Given the description of an element on the screen output the (x, y) to click on. 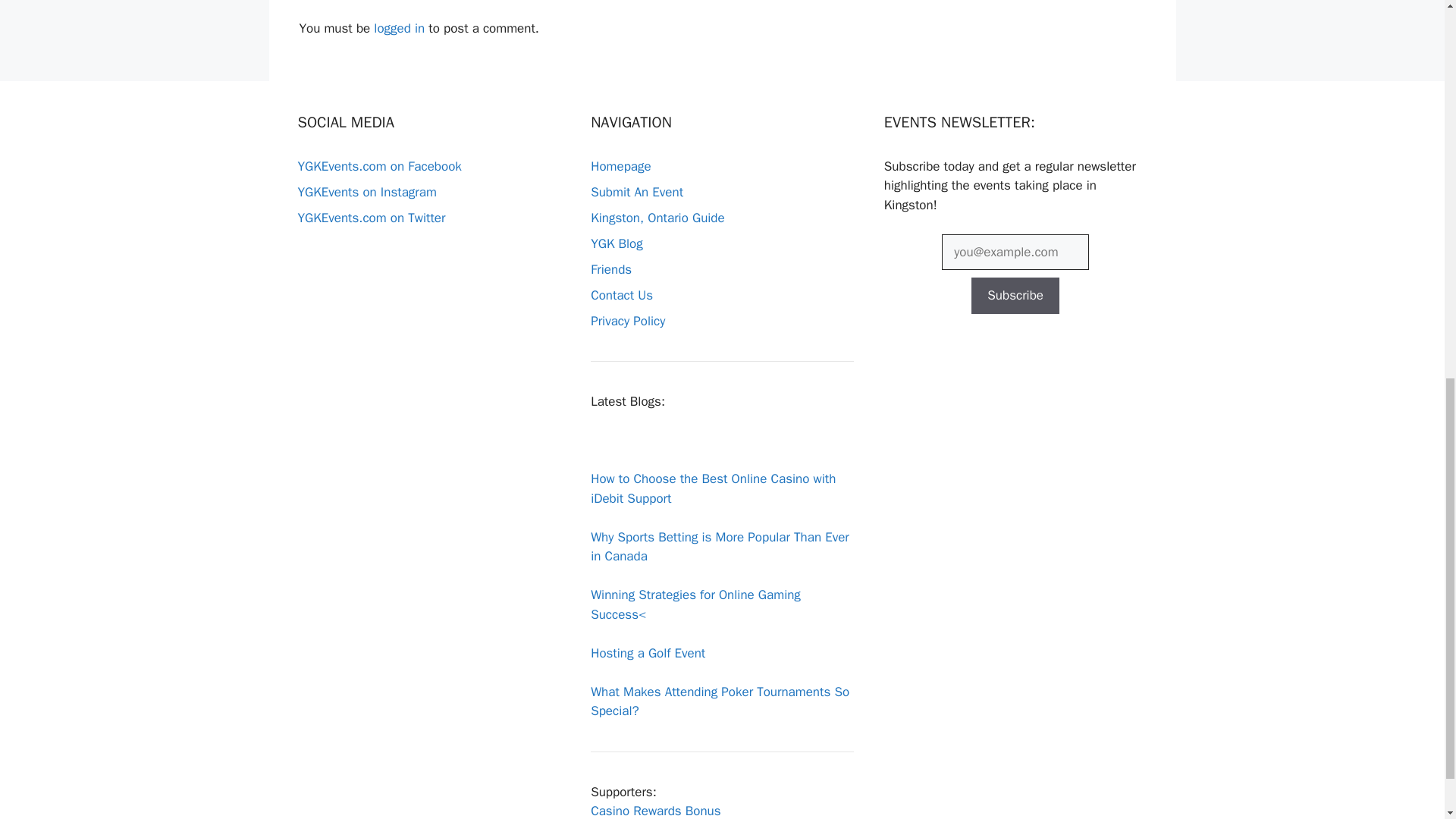
Kingston, Ontario Guide (658, 217)
Why Sports Betting is More Popular Than Ever in Canada (719, 547)
YGKEvents on Instagram (366, 191)
Homepage (620, 166)
Friends (611, 269)
How to Choose the Best Online Casino with iDebit Support (713, 488)
Subscribe (1015, 295)
logged in (399, 28)
Contact Us (621, 295)
Privacy Policy (628, 320)
